Given the description of an element on the screen output the (x, y) to click on. 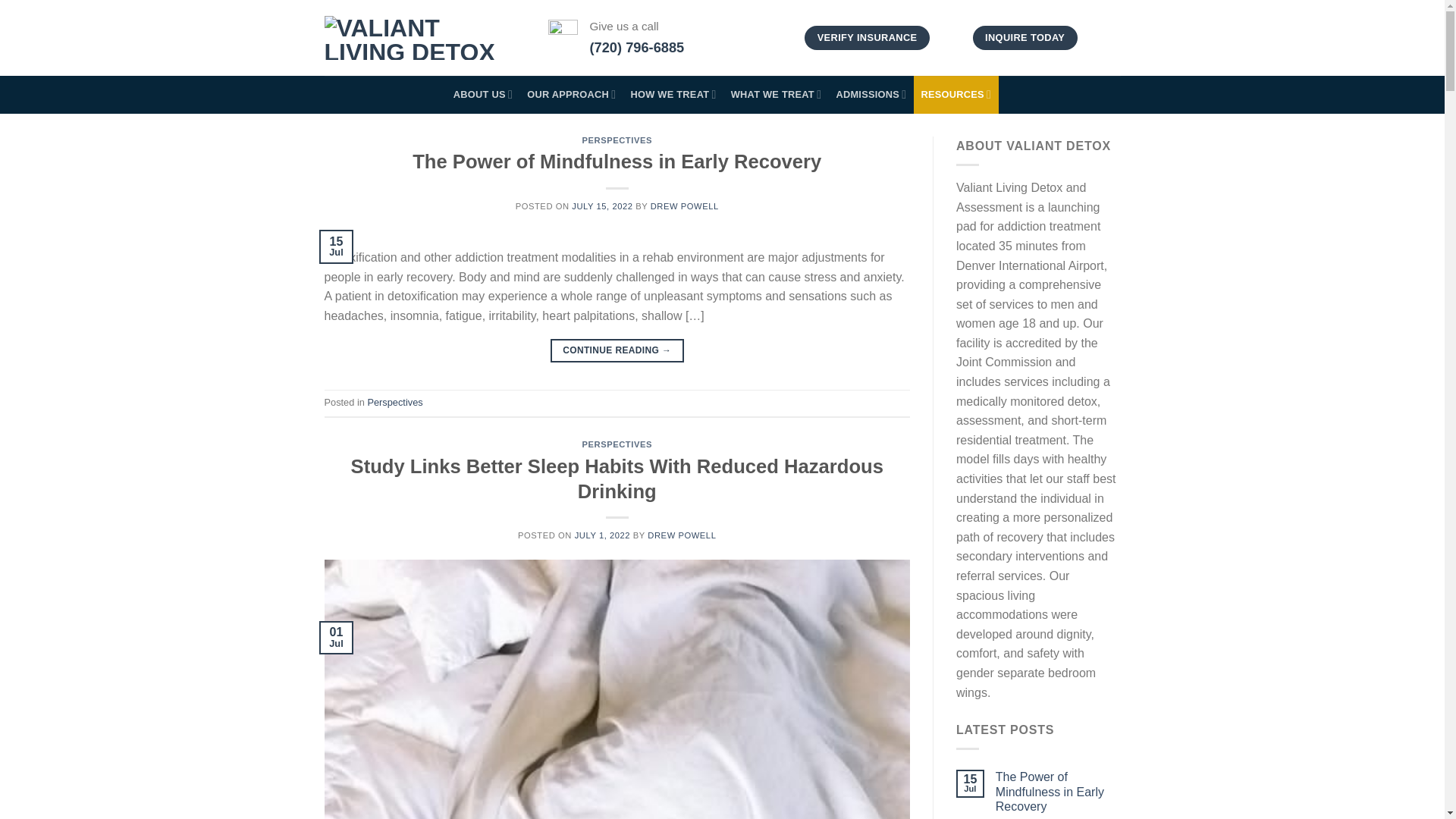
HOW WE TREAT (673, 94)
ABOUT US (482, 94)
VERIFY INSURANCE (866, 37)
ADMISSIONS (871, 94)
WHAT WE TREAT (775, 94)
INQUIRE TODAY (1024, 37)
OUR APPROACH (571, 94)
The Power of Mindfulness in Early Recovery (1058, 791)
